Given the description of an element on the screen output the (x, y) to click on. 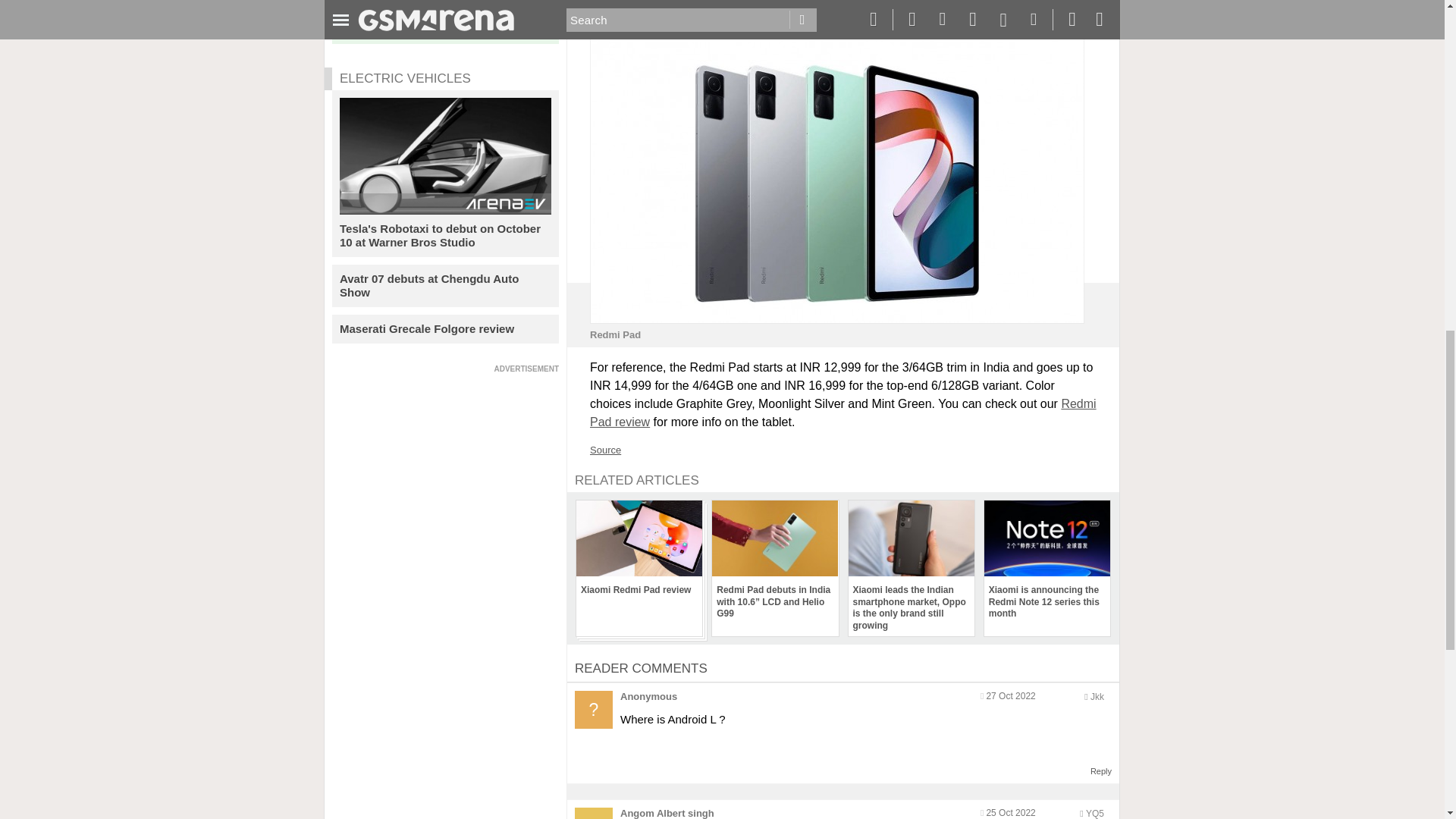
Encoded anonymized location (1094, 813)
Encoded anonymized location (1096, 696)
Reply to this post (1101, 770)
